Given the description of an element on the screen output the (x, y) to click on. 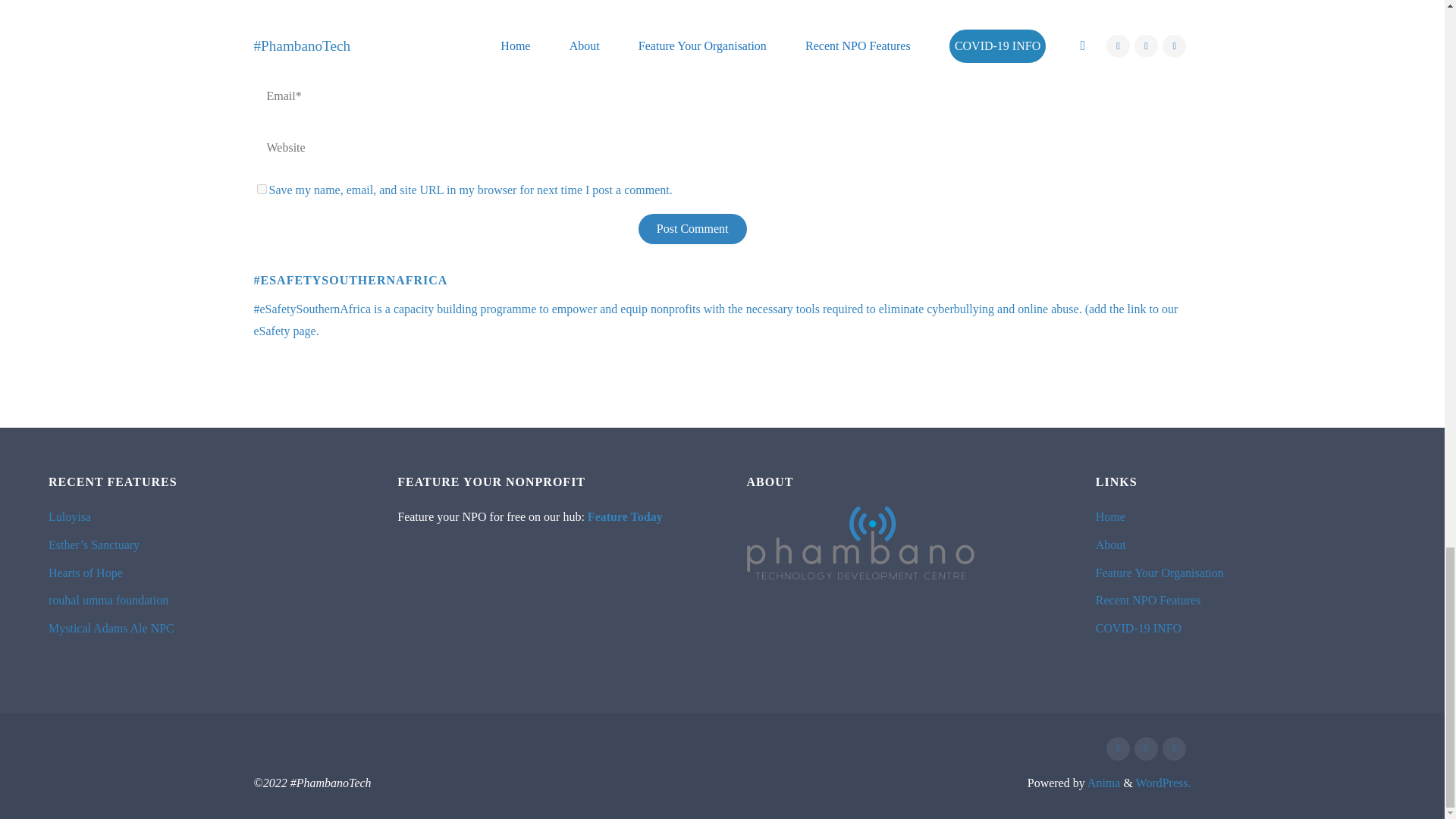
yes (261, 189)
Semantic Personal Publishing Platform (1163, 782)
Post Comment (692, 228)
Anima WordPress Theme by Cryout Creations (1102, 782)
Luloyisa (69, 516)
Hearts of Hope (85, 572)
rouhal umma foundation (108, 599)
Mystical Adams Ale NPC (111, 627)
Post Comment (692, 228)
